Given the description of an element on the screen output the (x, y) to click on. 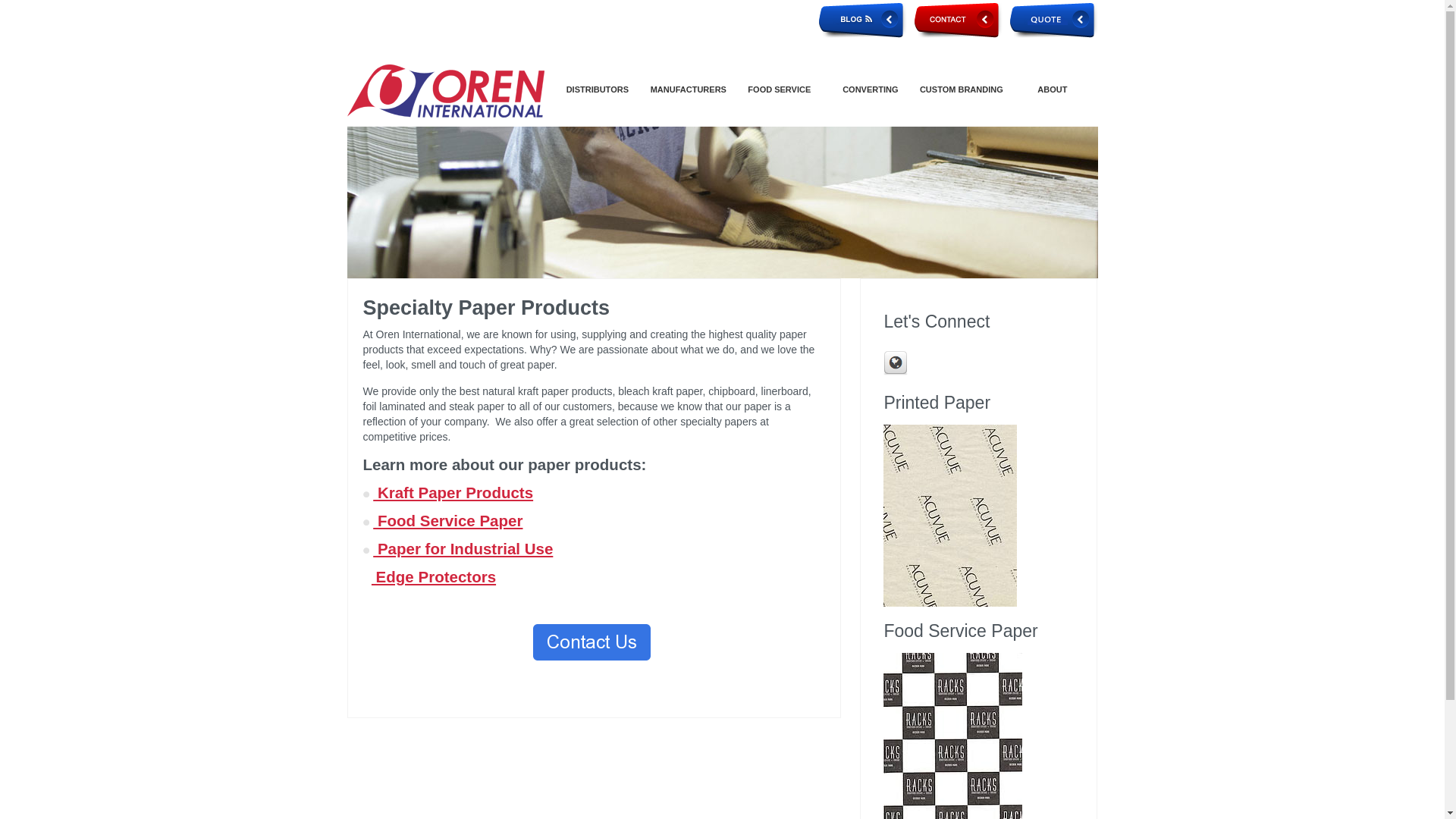
Food Service Paper (447, 520)
ABOUT (1052, 89)
Request a Quote (1053, 20)
Oren Blog (862, 20)
CONVERTING (870, 89)
  Industrial Use (462, 548)
  Food Service (447, 520)
Edge Protectors (433, 576)
CUSTOM BRANDING (960, 89)
  Kraft Paper (452, 492)
